Given the description of an element on the screen output the (x, y) to click on. 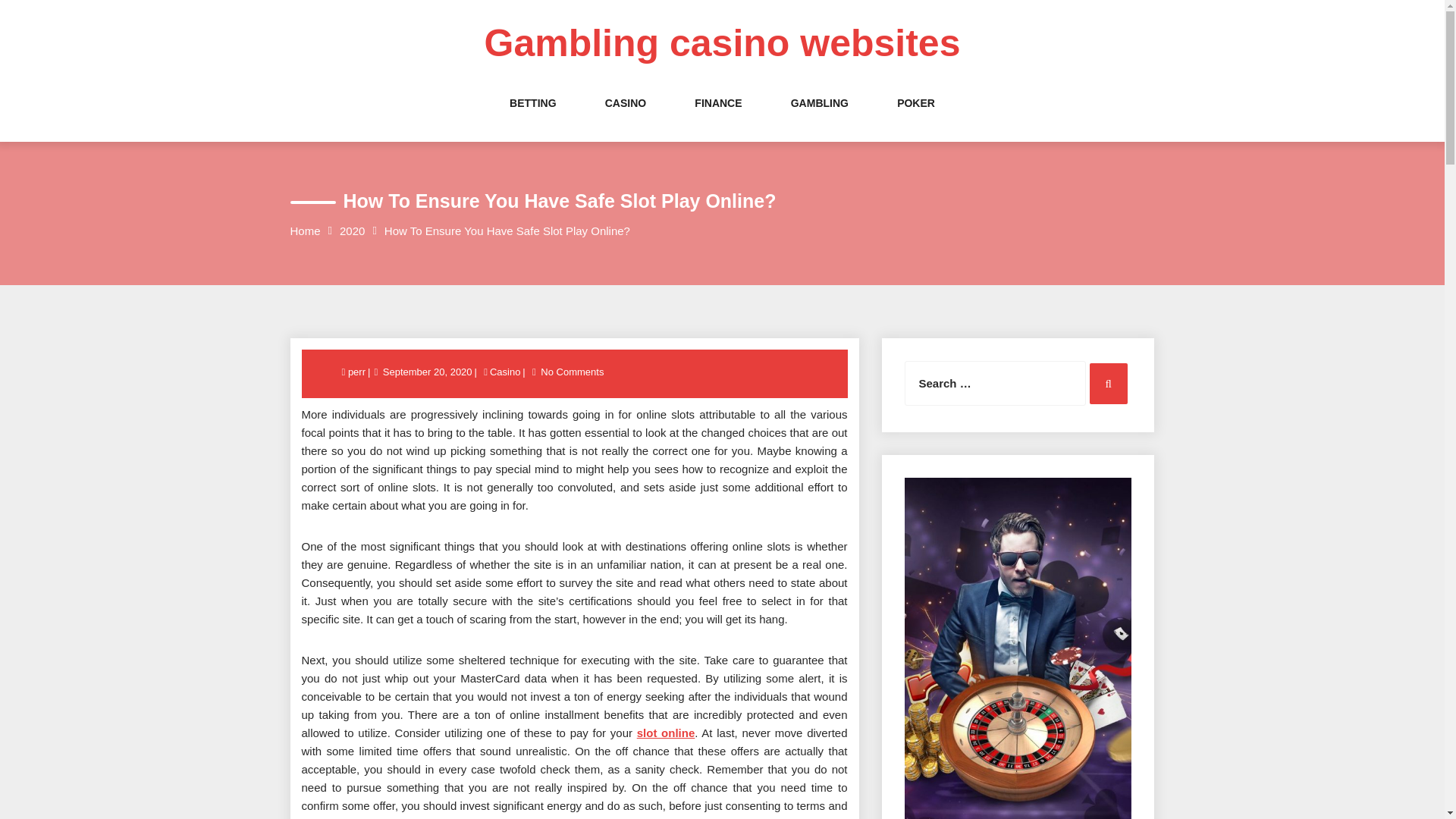
GAMBLING (819, 118)
September 20, 2020 (427, 371)
Gambling casino websites (722, 43)
Casino (504, 371)
slot online (666, 732)
CASINO (625, 118)
perr (357, 371)
Search (1107, 383)
Home (304, 230)
BETTING (532, 118)
2020 (352, 230)
No Comments (571, 371)
FINANCE (717, 118)
